Given the description of an element on the screen output the (x, y) to click on. 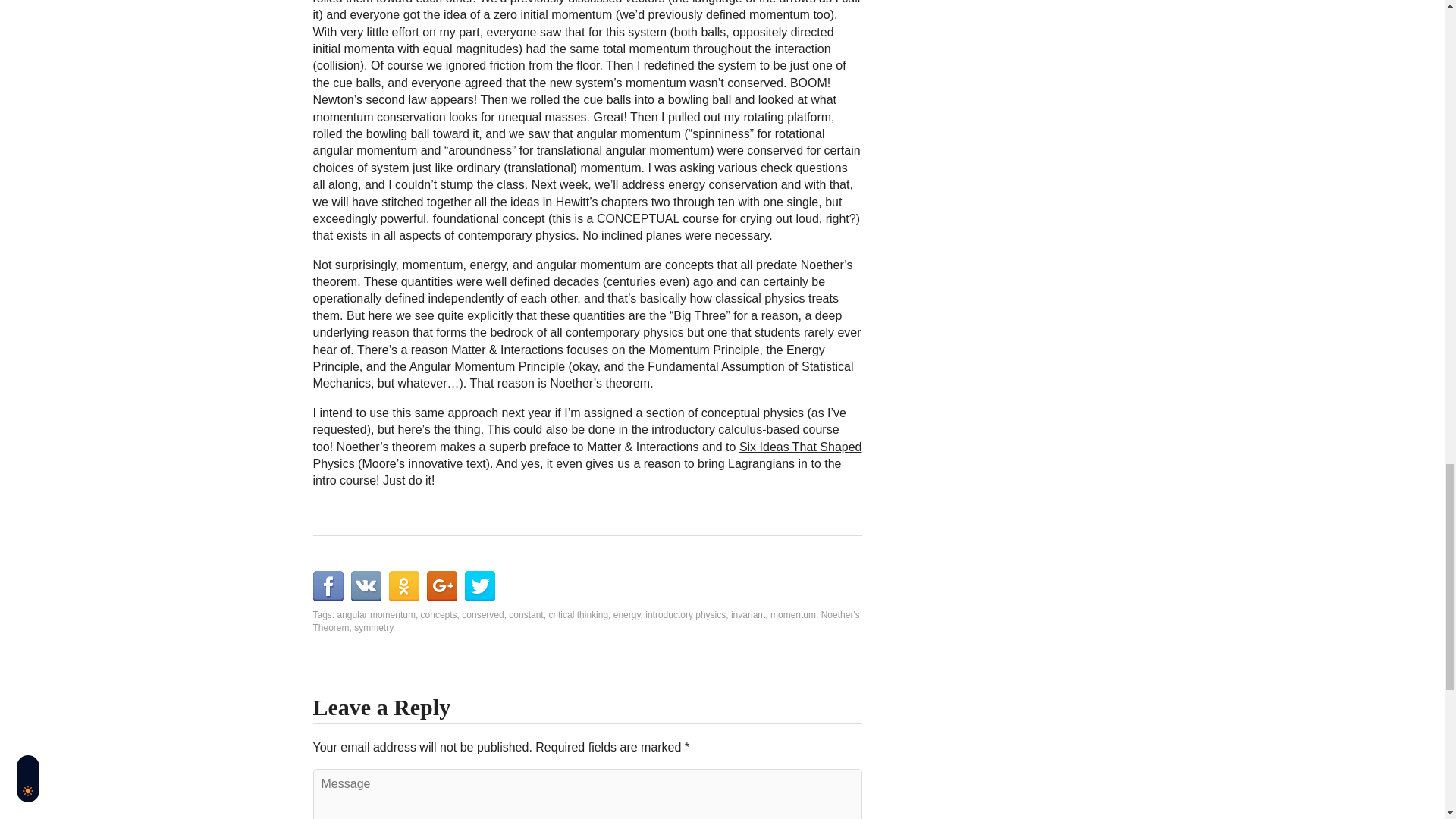
Share in VK (365, 585)
conserved (482, 614)
Share in OK (403, 585)
concepts (438, 614)
Share in Twitter (479, 585)
constant (525, 614)
Six Ideas That Shaped Physics (587, 455)
critical thinking (578, 614)
Share in Facebook (327, 585)
energy (626, 614)
angular momentum (375, 614)
Six Ideas That Shaped Physics (587, 455)
